Given the description of an element on the screen output the (x, y) to click on. 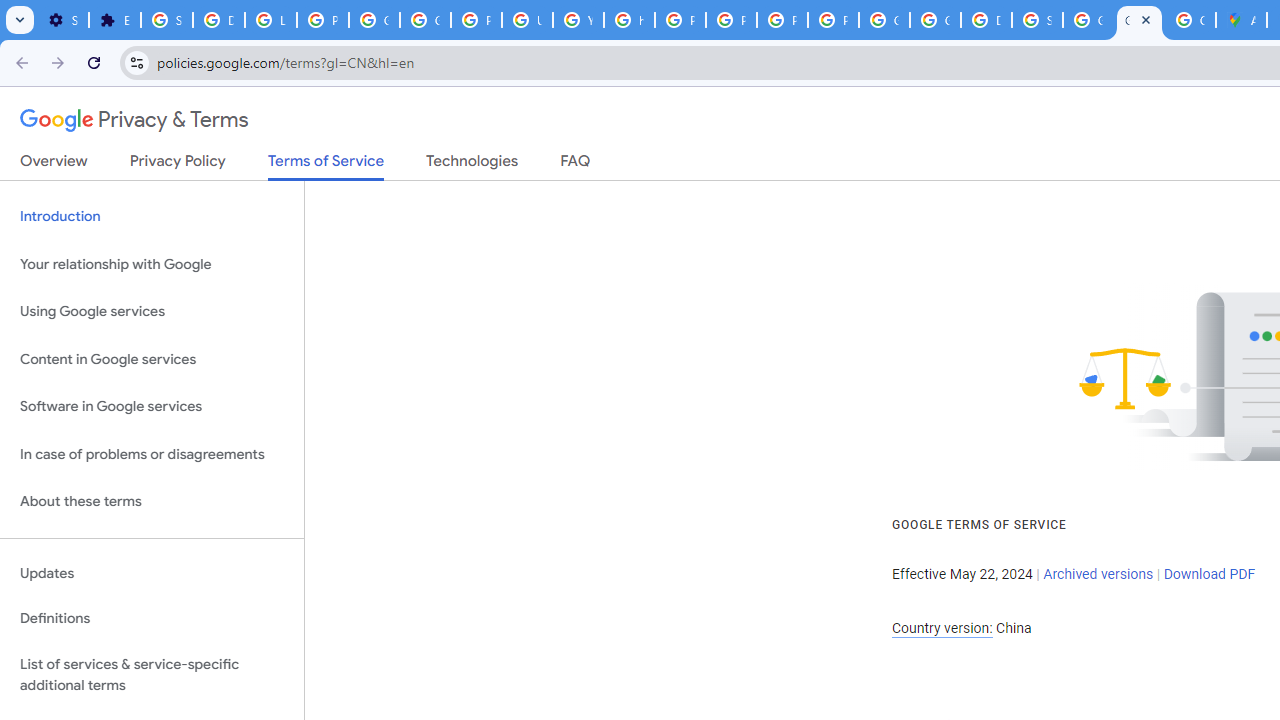
Sign in - Google Accounts (1037, 20)
Privacy Help Center - Policies Help (680, 20)
Delete photos & videos - Computer - Google Photos Help (218, 20)
